Given the description of an element on the screen output the (x, y) to click on. 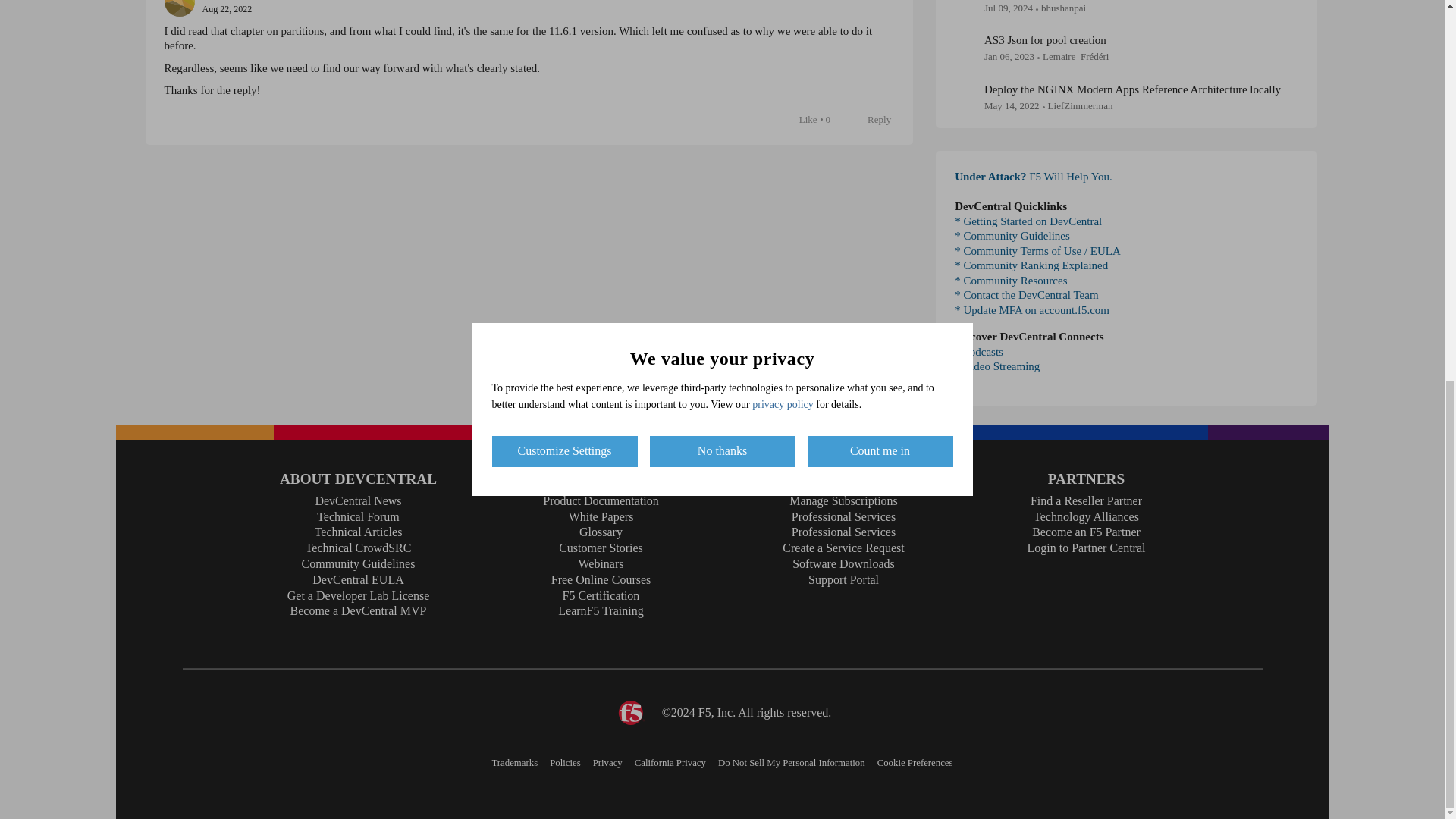
July 9, 2024 at 12:00 PM (1008, 7)
August 22, 2022 at 9:09 PM (226, 9)
